Given the description of an element on the screen output the (x, y) to click on. 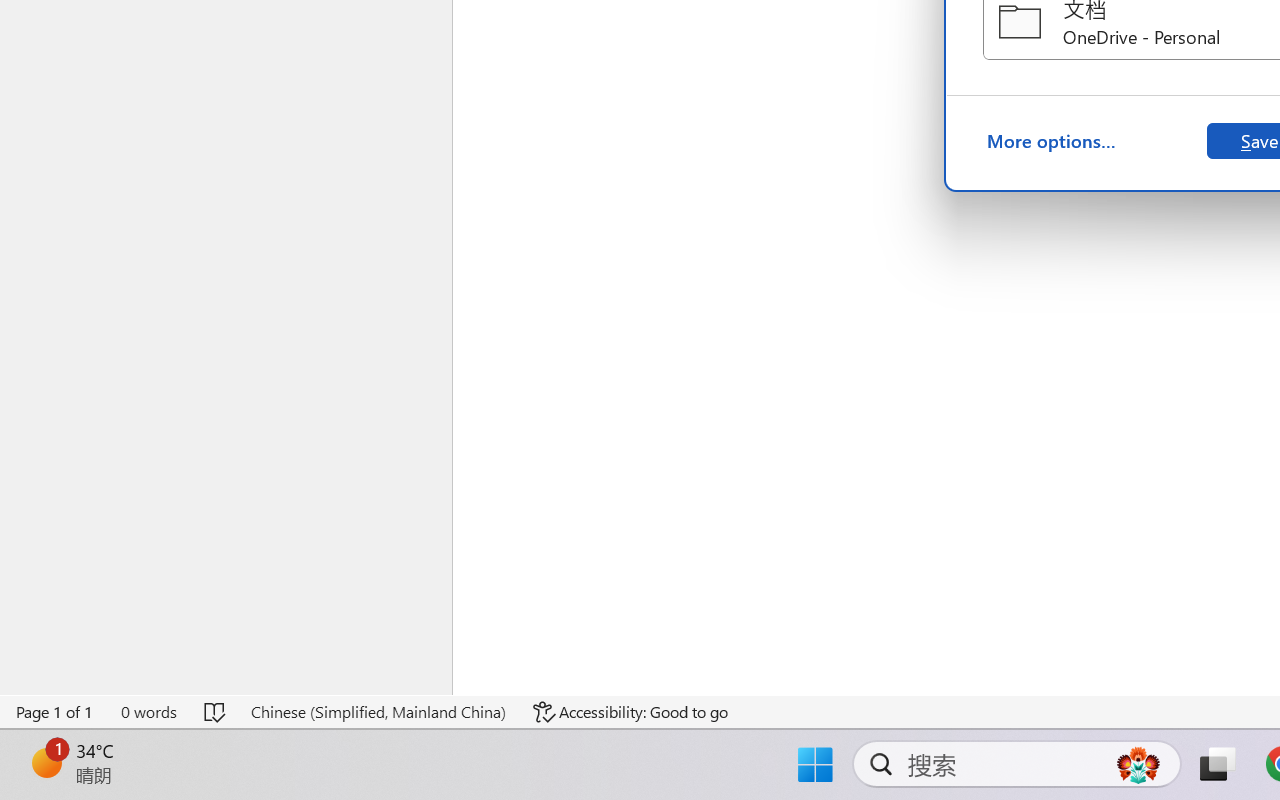
Language Chinese (Simplified, Mainland China) (378, 712)
